Given the description of an element on the screen output the (x, y) to click on. 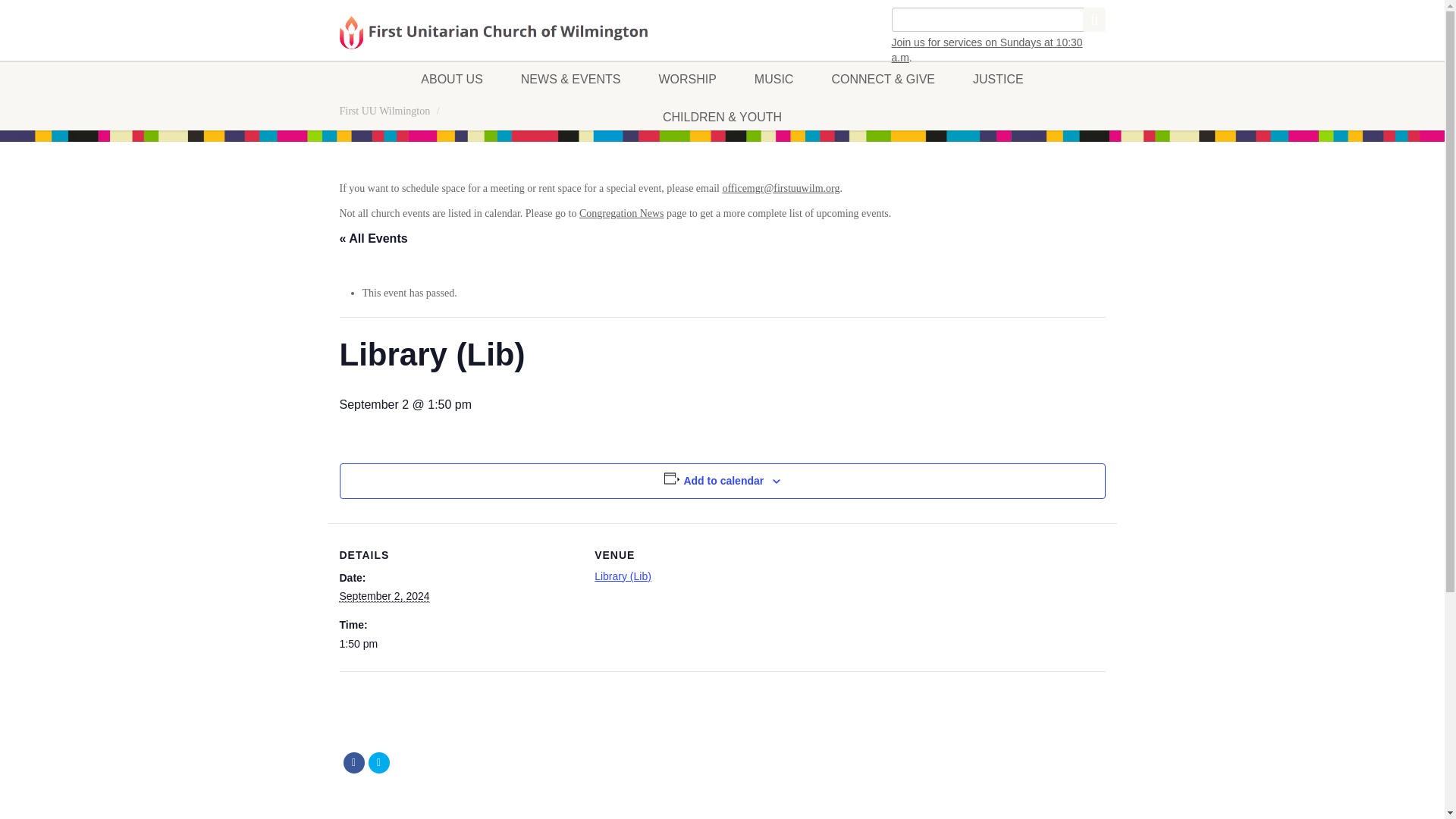
2024-09-02 (457, 644)
MUSIC (773, 79)
2024-09-02 (384, 595)
Go to First UU Wilmington. (384, 111)
Join us for services on Sundays at 10:30 a.m (987, 49)
ABOUT US (451, 79)
WORSHIP (687, 79)
Share on Facebook (353, 762)
Return to Homepage (493, 32)
Tweet (379, 762)
